Given the description of an element on the screen output the (x, y) to click on. 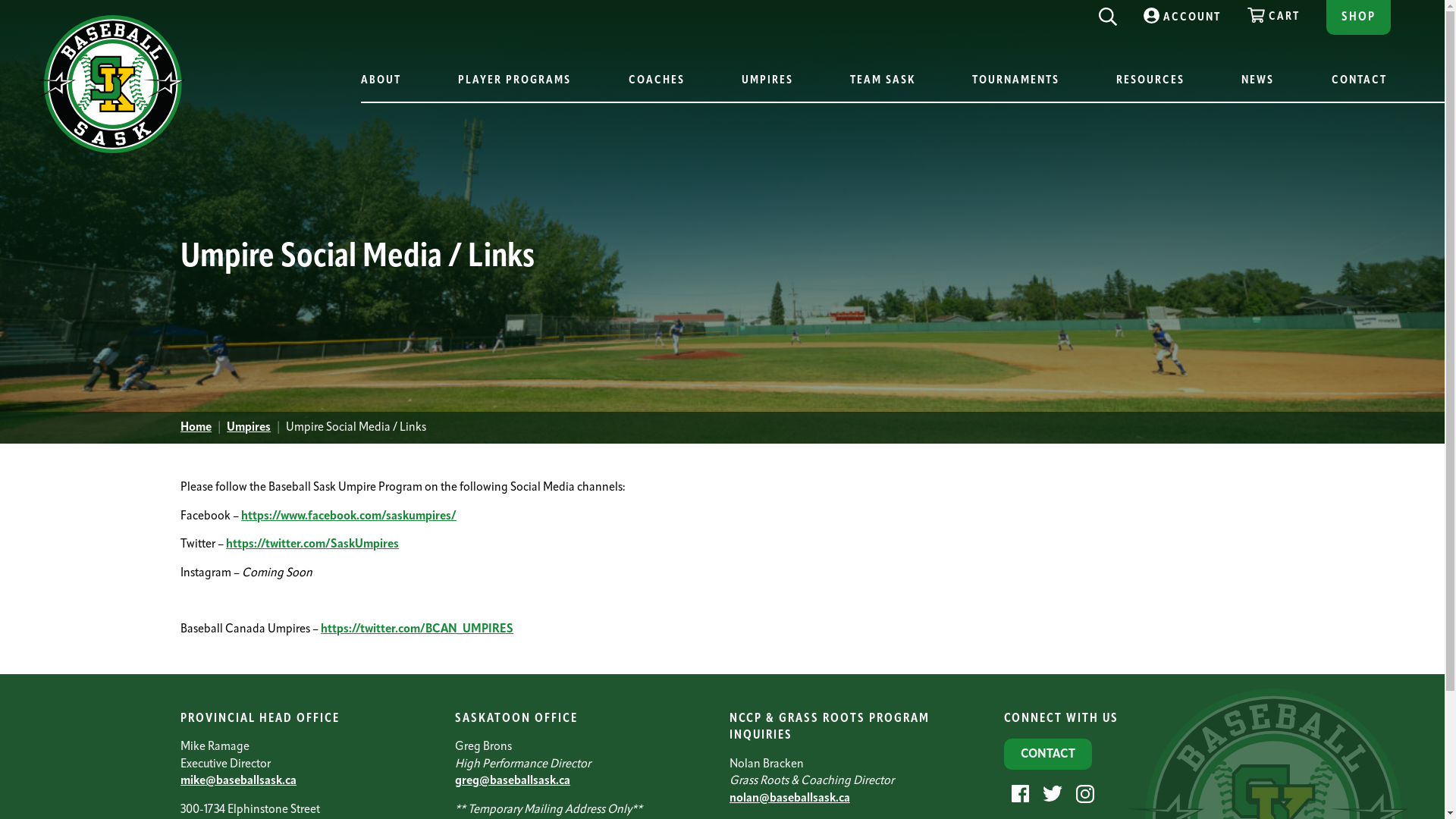
ACCOUNT Element type: text (1181, 11)
CART Element type: text (1273, 11)
CONTACT Element type: text (1358, 81)
https://twitter.com/SaskUmpires Element type: text (311, 544)
COACHES Element type: text (656, 81)
Home Element type: text (195, 427)
ABOUT Element type: text (382, 81)
https://twitter.com/BCAN_UMPIRES Element type: text (416, 629)
RESOURCES Element type: text (1150, 81)
nolan@baseballsask.ca Element type: text (789, 798)
Facebook Element type: hover (1018, 793)
greg@baseballsask.ca Element type: text (512, 781)
TOURNAMENTS Element type: text (1015, 81)
TEAM SASK Element type: text (882, 81)
UMPIRES Element type: text (767, 81)
Twitter Element type: hover (1050, 793)
mike@baseballsask.ca Element type: text (238, 781)
Search Element type: hover (1107, 12)
PLAYER PROGRAMS Element type: text (514, 81)
CONTACT Element type: text (1048, 753)
NEWS Element type: text (1257, 81)
Umpires Element type: text (248, 427)
https://www.facebook.com/saskumpires/ Element type: text (348, 516)
Instagram Element type: hover (1083, 793)
Baseball Sask Element type: hover (109, 150)
